Given the description of an element on the screen output the (x, y) to click on. 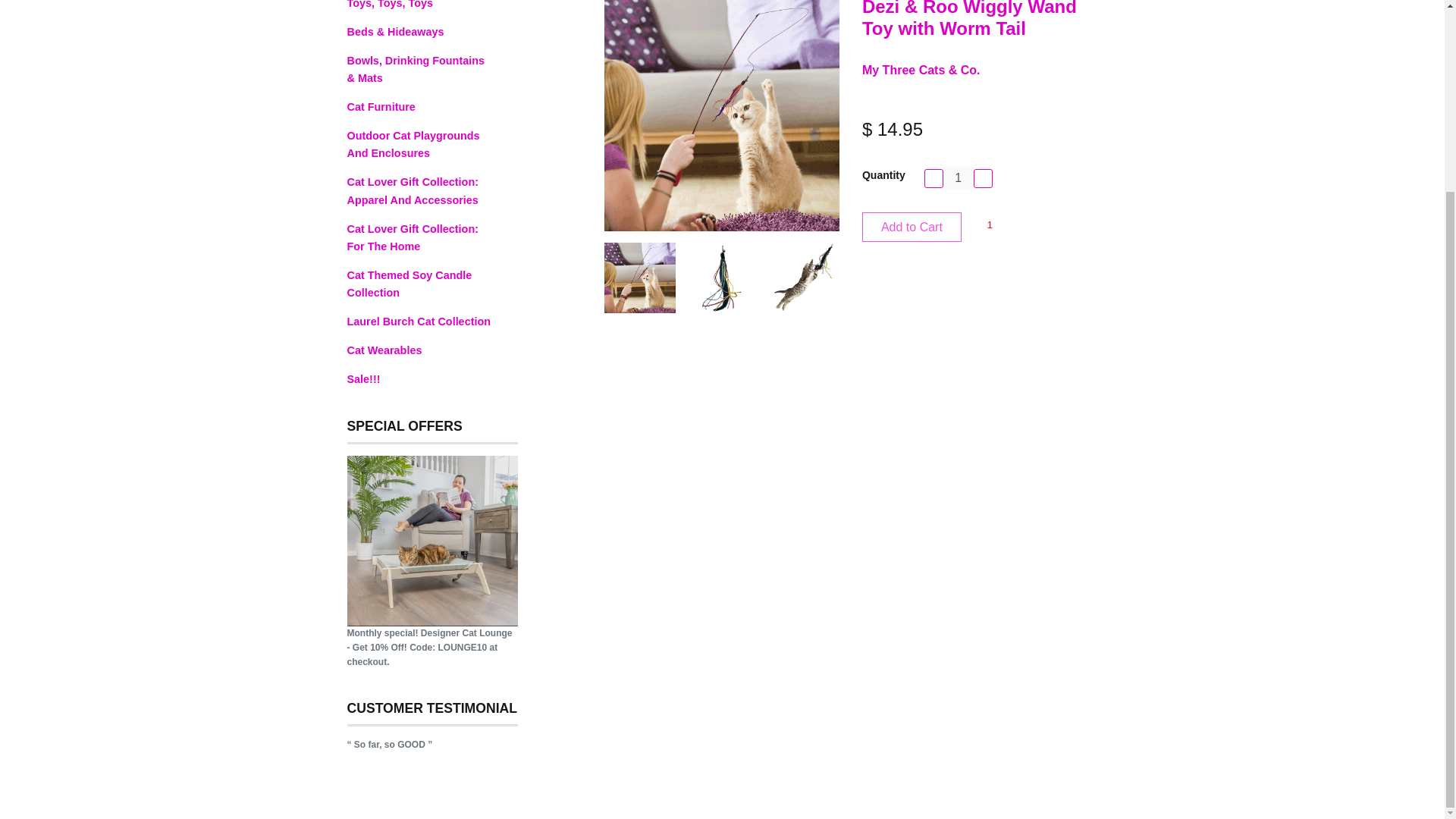
Add to Wishlist (989, 225)
1 (989, 225)
1 (958, 178)
Toys, Toys, Toys (432, 6)
